Given the description of an element on the screen output the (x, y) to click on. 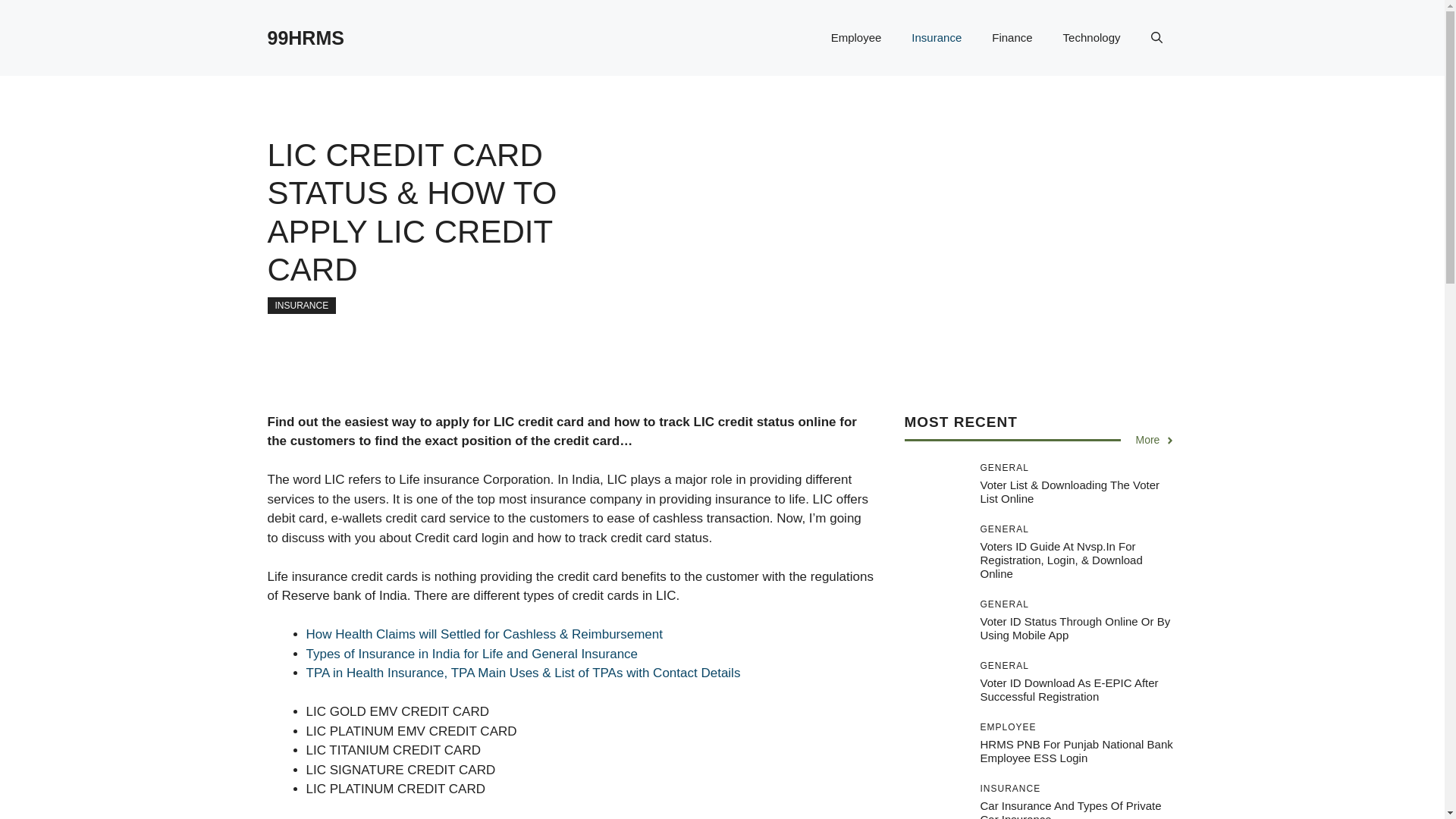
Car Insurance And Types Of Private Car Insurance (1069, 809)
Types of Insurance in India for Life and General Insurance (472, 653)
Finance (1011, 37)
Employee (855, 37)
HRMS PNB For Punjab National Bank Employee ESS Login (1075, 750)
Technology (1091, 37)
99HRMS (304, 37)
INSURANCE (301, 305)
Voter ID Download As E-EPIC After Successful Registration (1068, 689)
More (1155, 439)
Voter ID Status Through Online Or By Using Mobile App (1074, 628)
Insurance (936, 37)
